Given the description of an element on the screen output the (x, y) to click on. 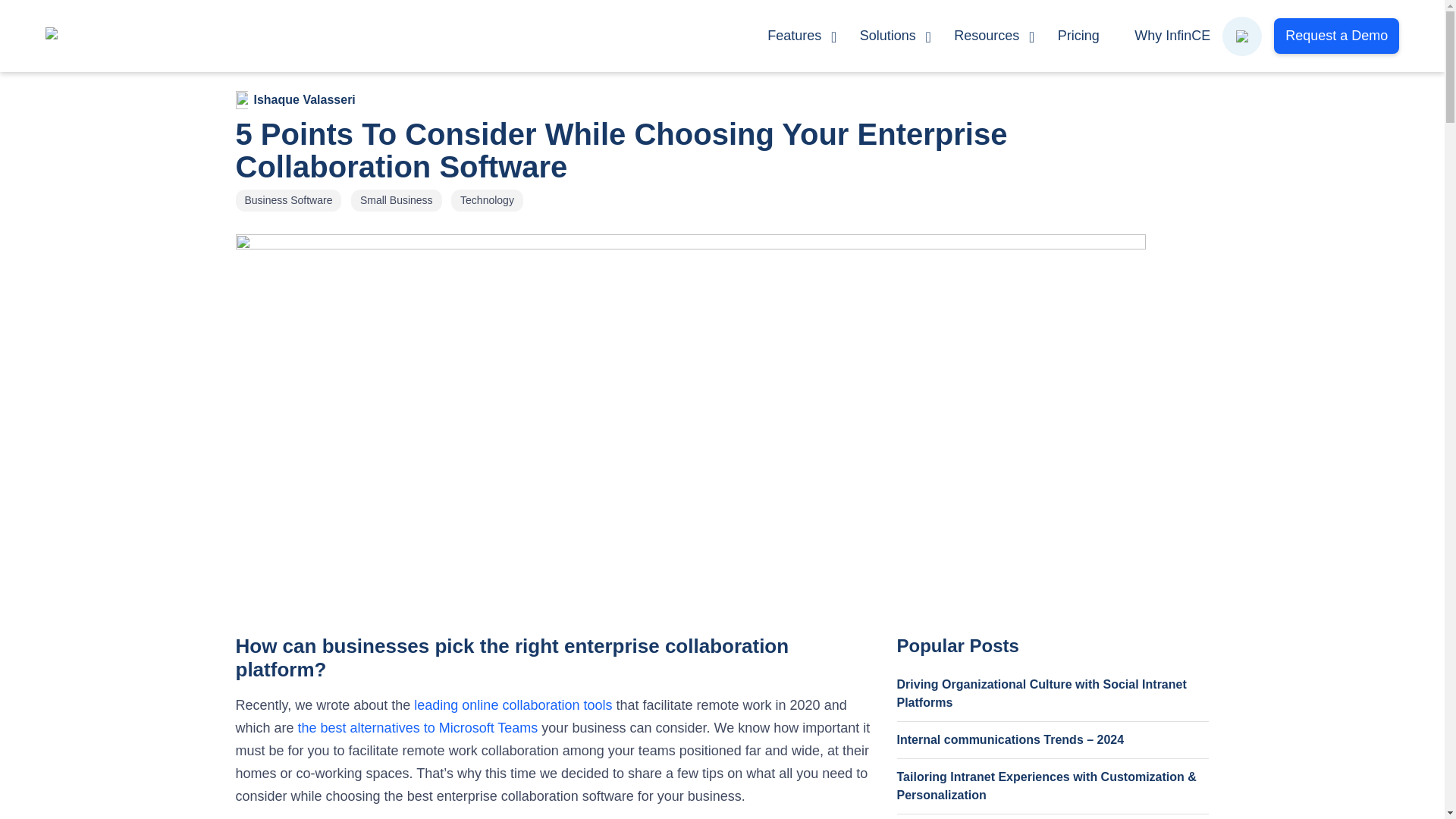
Features (795, 35)
Pricing (1078, 35)
Resources (987, 35)
Solutions (889, 35)
